Given the description of an element on the screen output the (x, y) to click on. 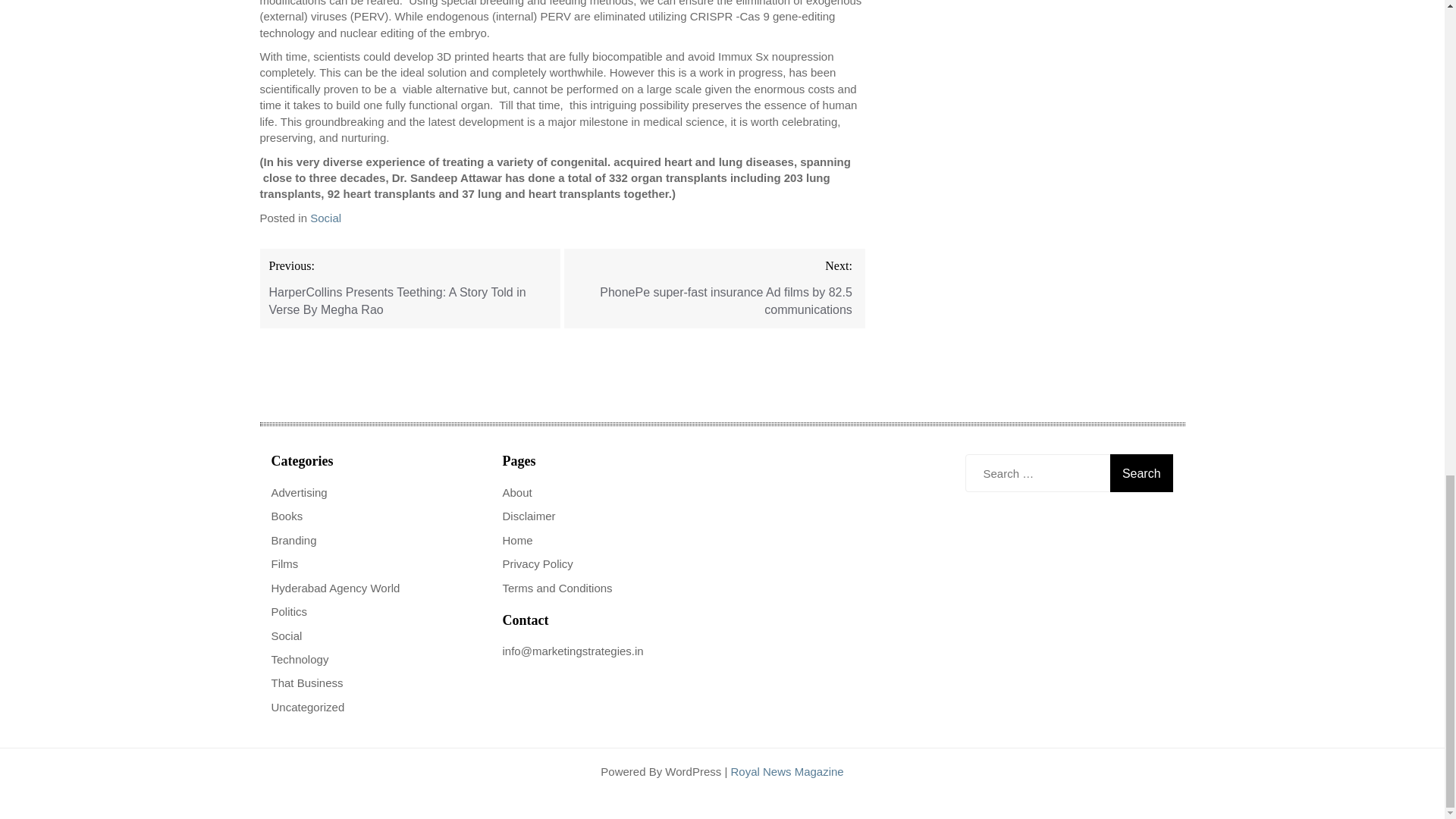
Search (1141, 473)
Search (1141, 473)
Social (325, 217)
